Given the description of an element on the screen output the (x, y) to click on. 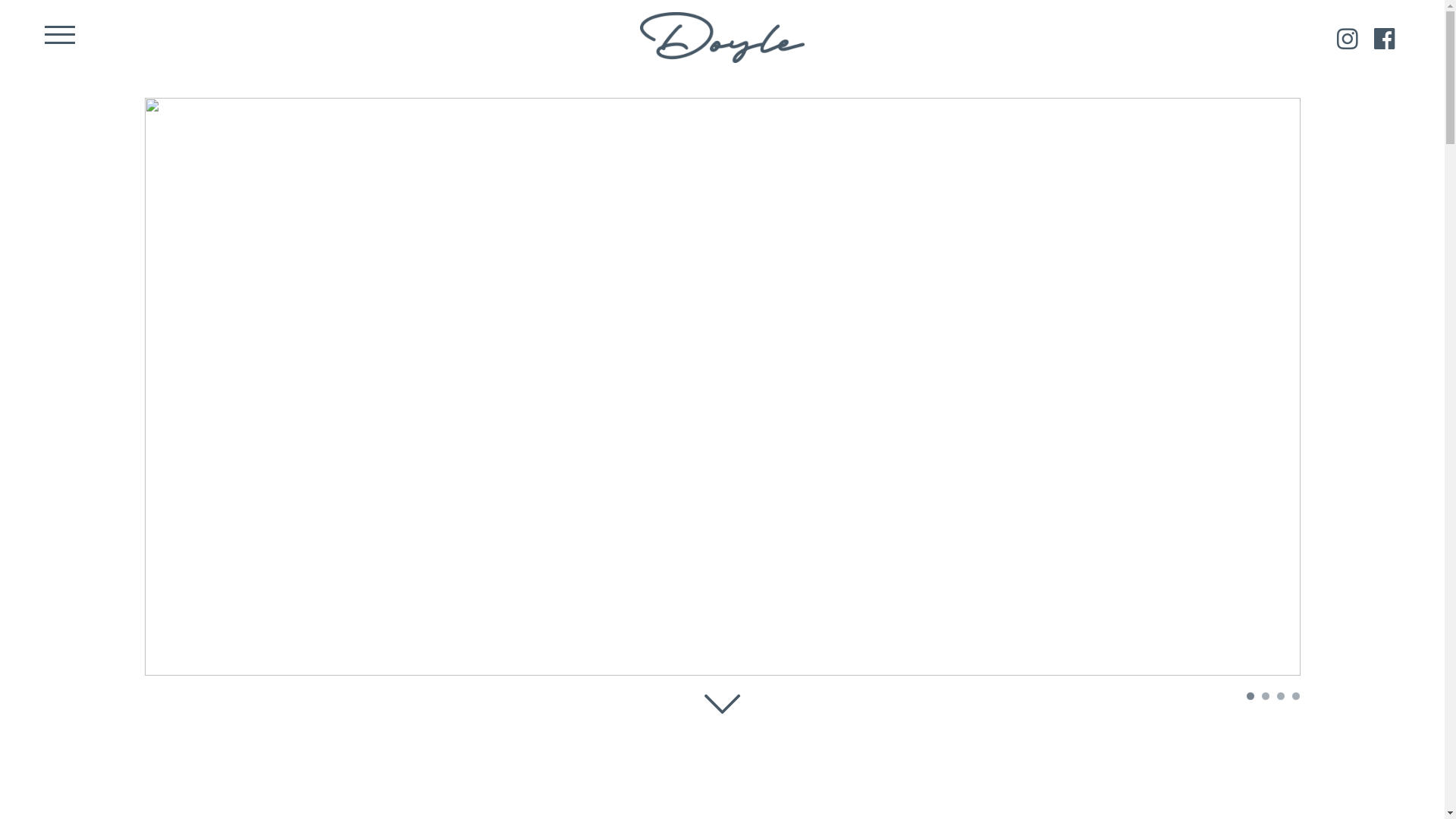
4 Element type: text (1291, 696)
3 Element type: text (1276, 696)
2 Element type: text (1261, 696)
1 Element type: text (1246, 696)
